Given the description of an element on the screen output the (x, y) to click on. 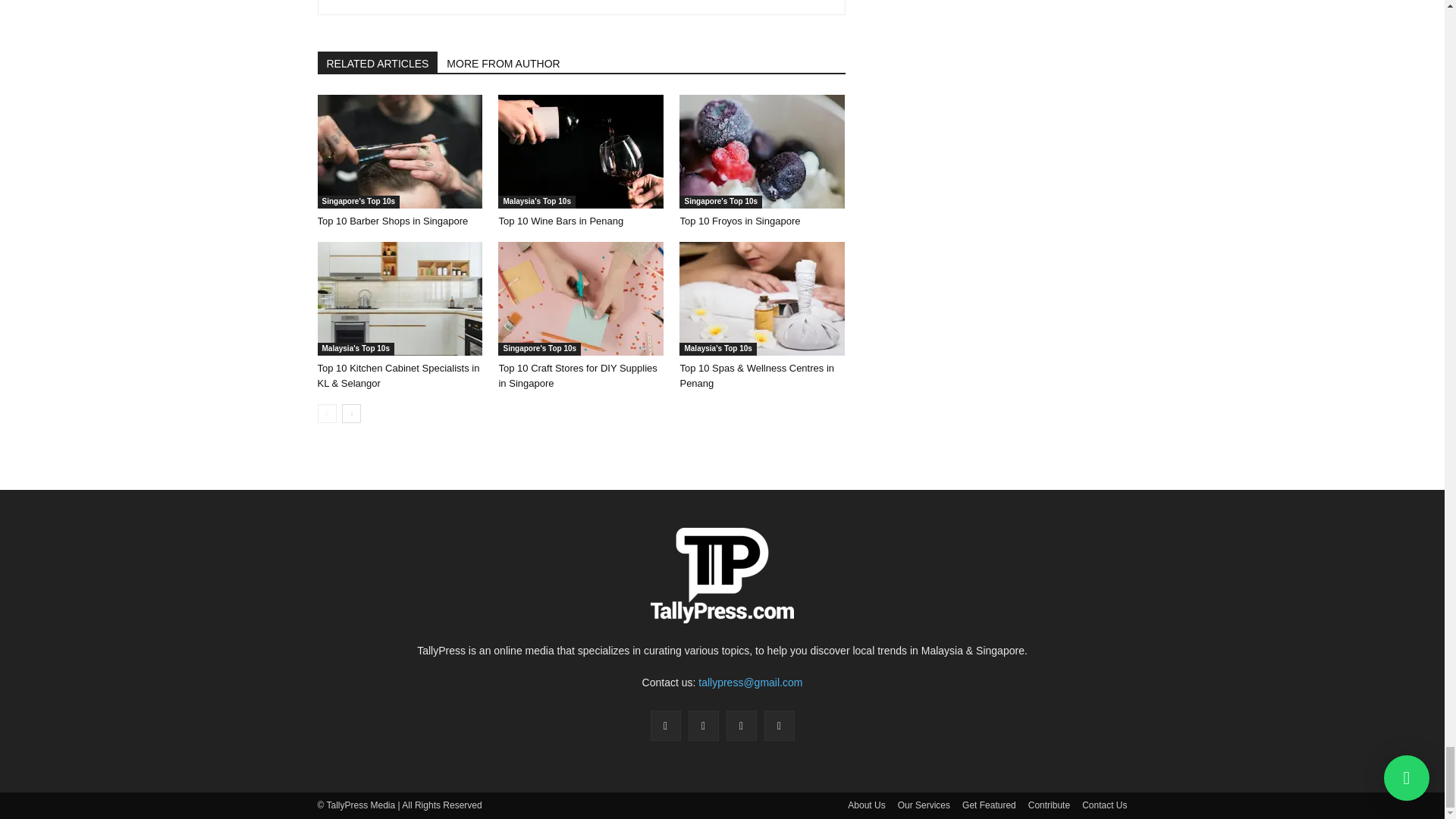
Top 10 Barber Shops in Singapore (392, 220)
Top 10 Wine Bars in Penang (580, 151)
Top 10 Barber Shops in Singapore (399, 151)
Top 10 Wine Bars in Penang (560, 220)
